Given the description of an element on the screen output the (x, y) to click on. 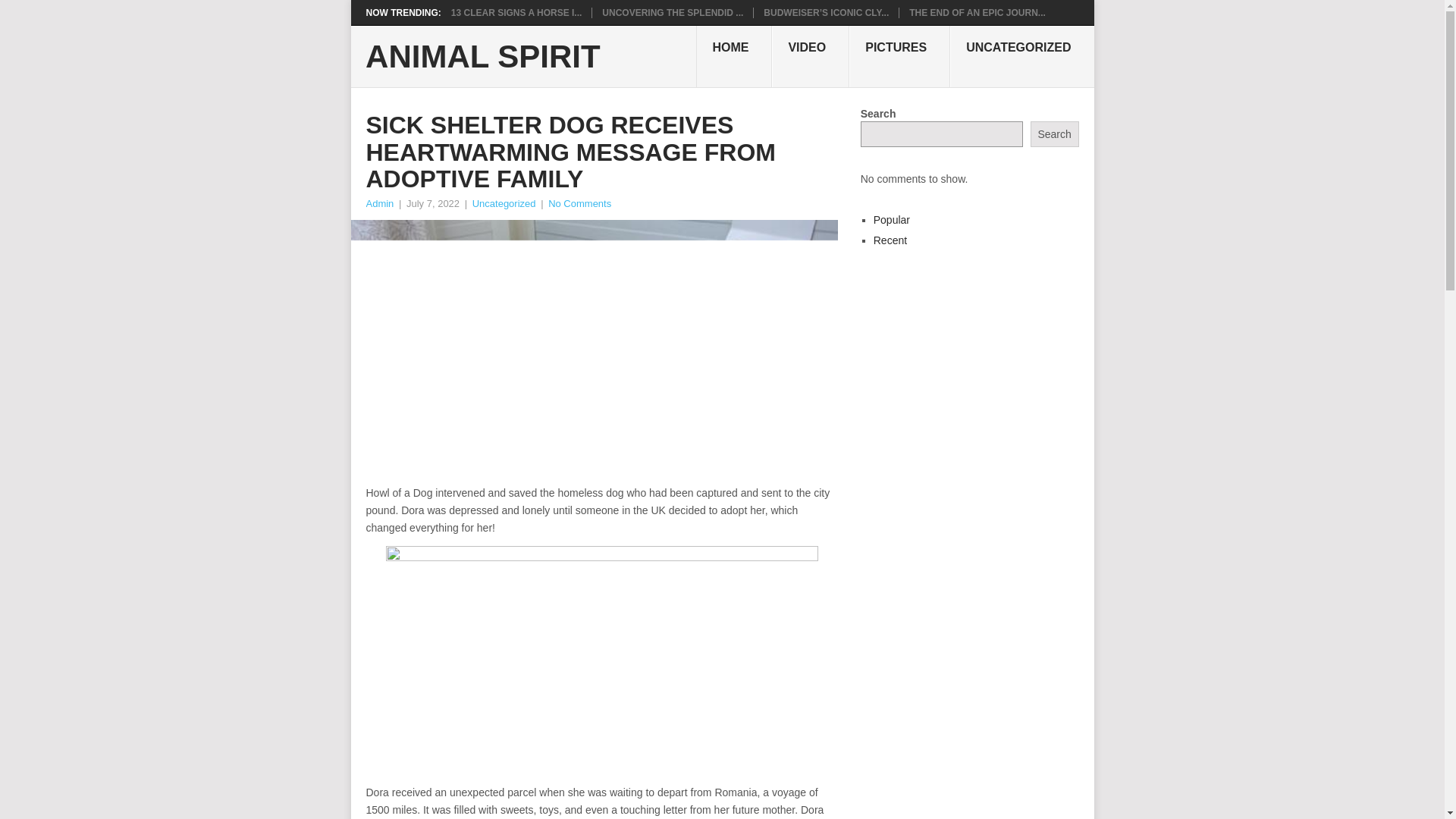
No Comments (579, 203)
13 CLEAR SIGNS A HORSE I... (515, 12)
Uncategorized (503, 203)
Popular (891, 219)
13 Clear Signs a Horse is Happy. (515, 12)
THE END OF AN EPIC JOURN... (976, 12)
ANIMAL SPIRIT (482, 56)
HOME (733, 56)
UNCATEGORIZED (1021, 56)
